Given the description of an element on the screen output the (x, y) to click on. 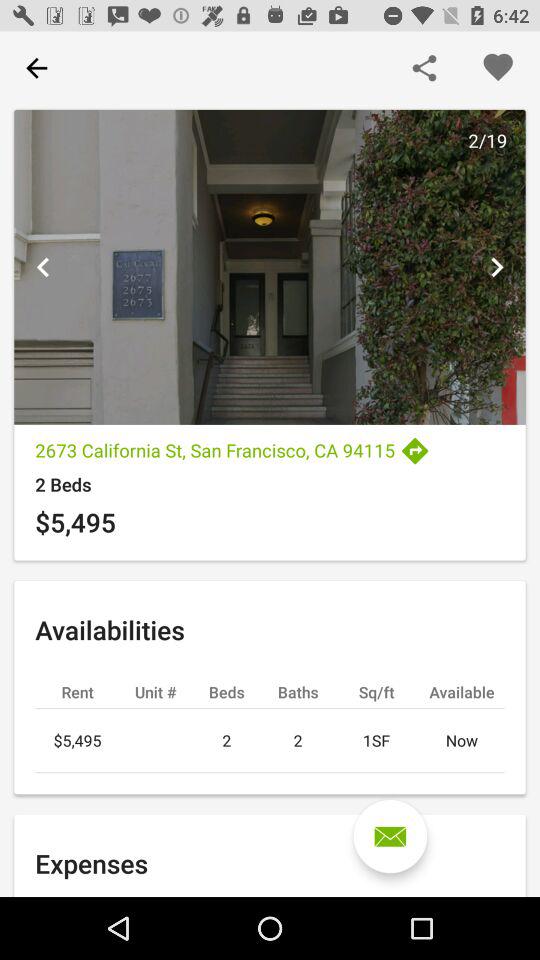
see next image right (496, 267)
